Given the description of an element on the screen output the (x, y) to click on. 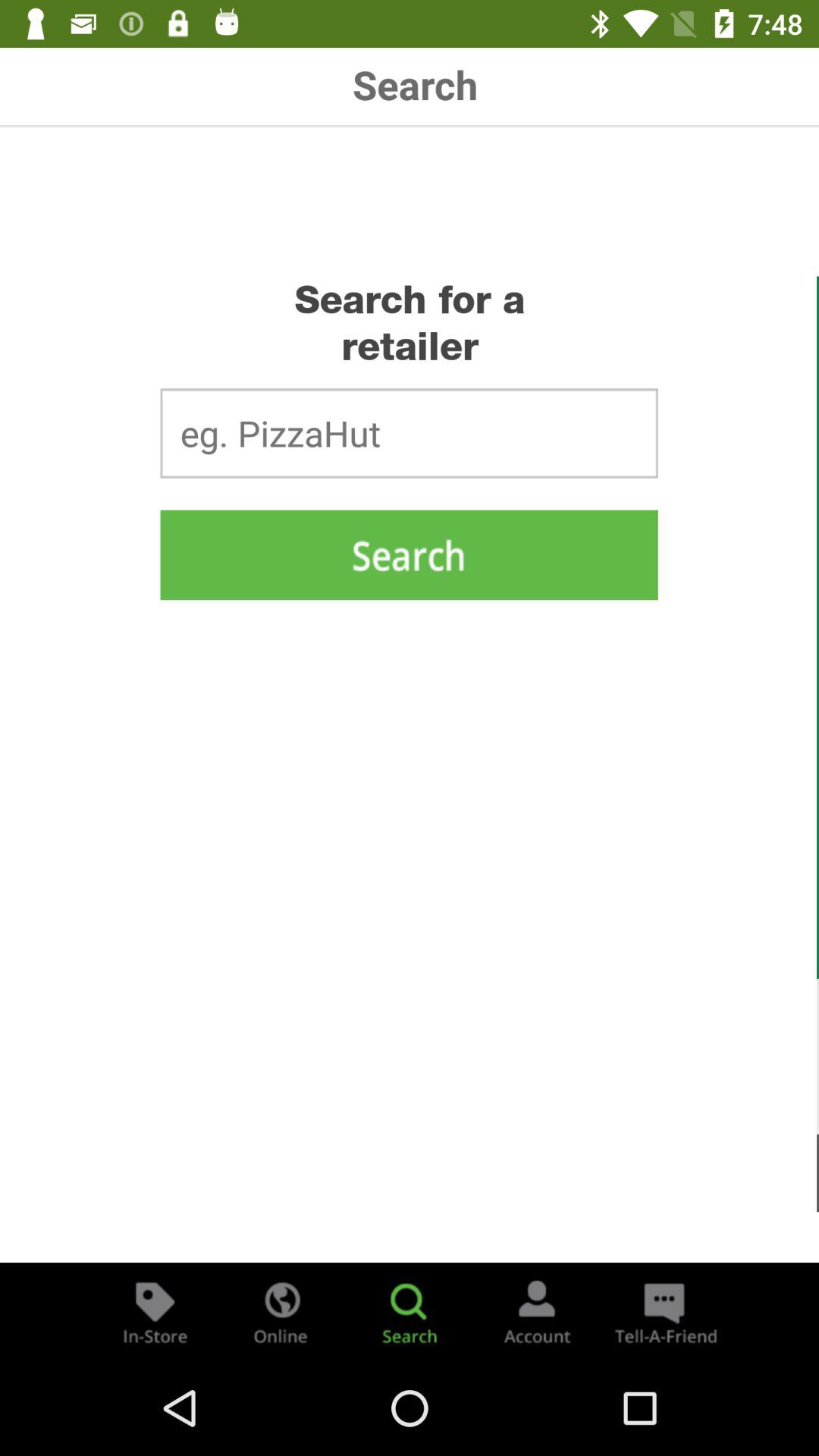
type in a name of a retailer to search (409, 433)
